Given the description of an element on the screen output the (x, y) to click on. 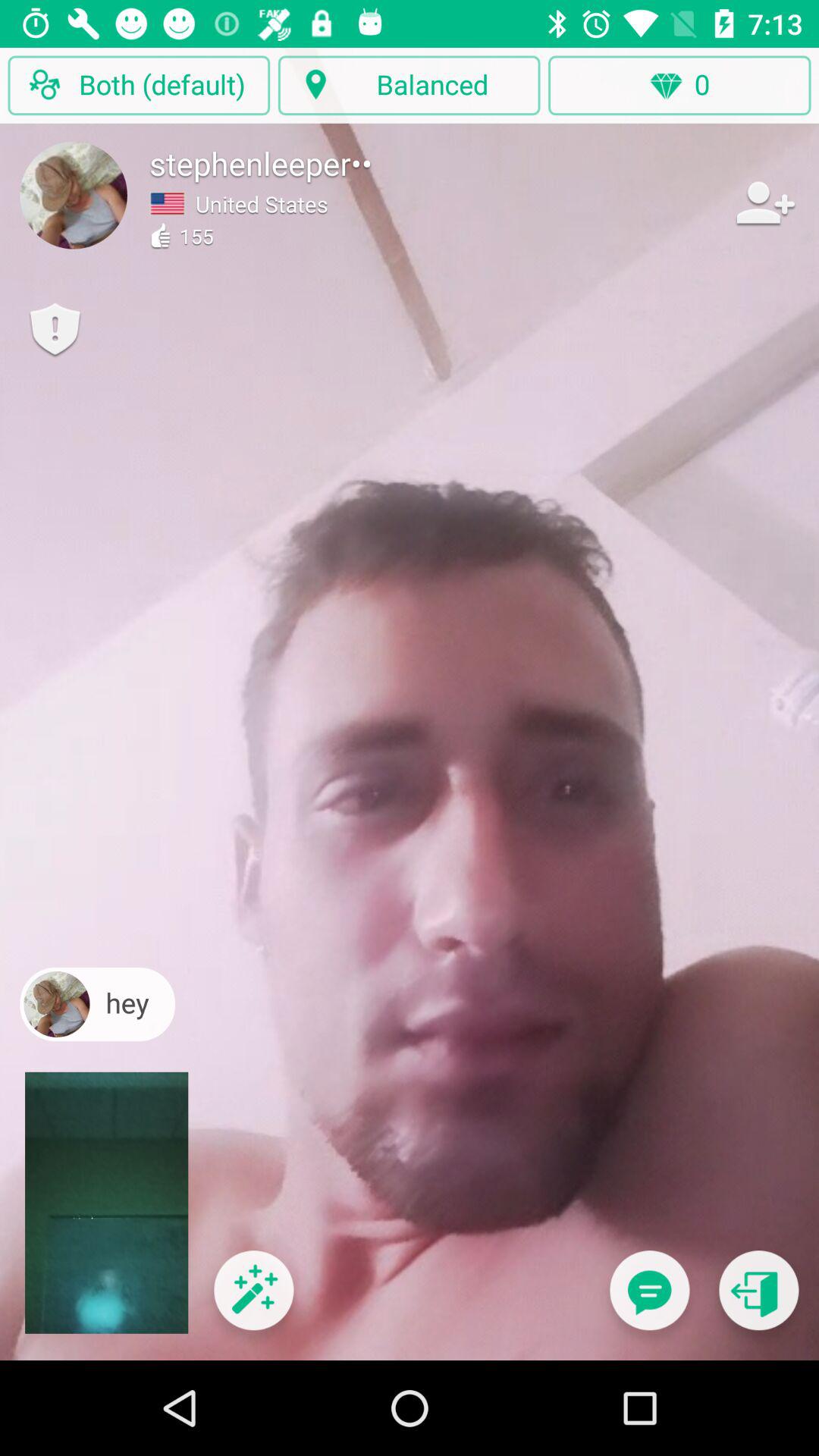
exit button (758, 1300)
